Given the description of an element on the screen output the (x, y) to click on. 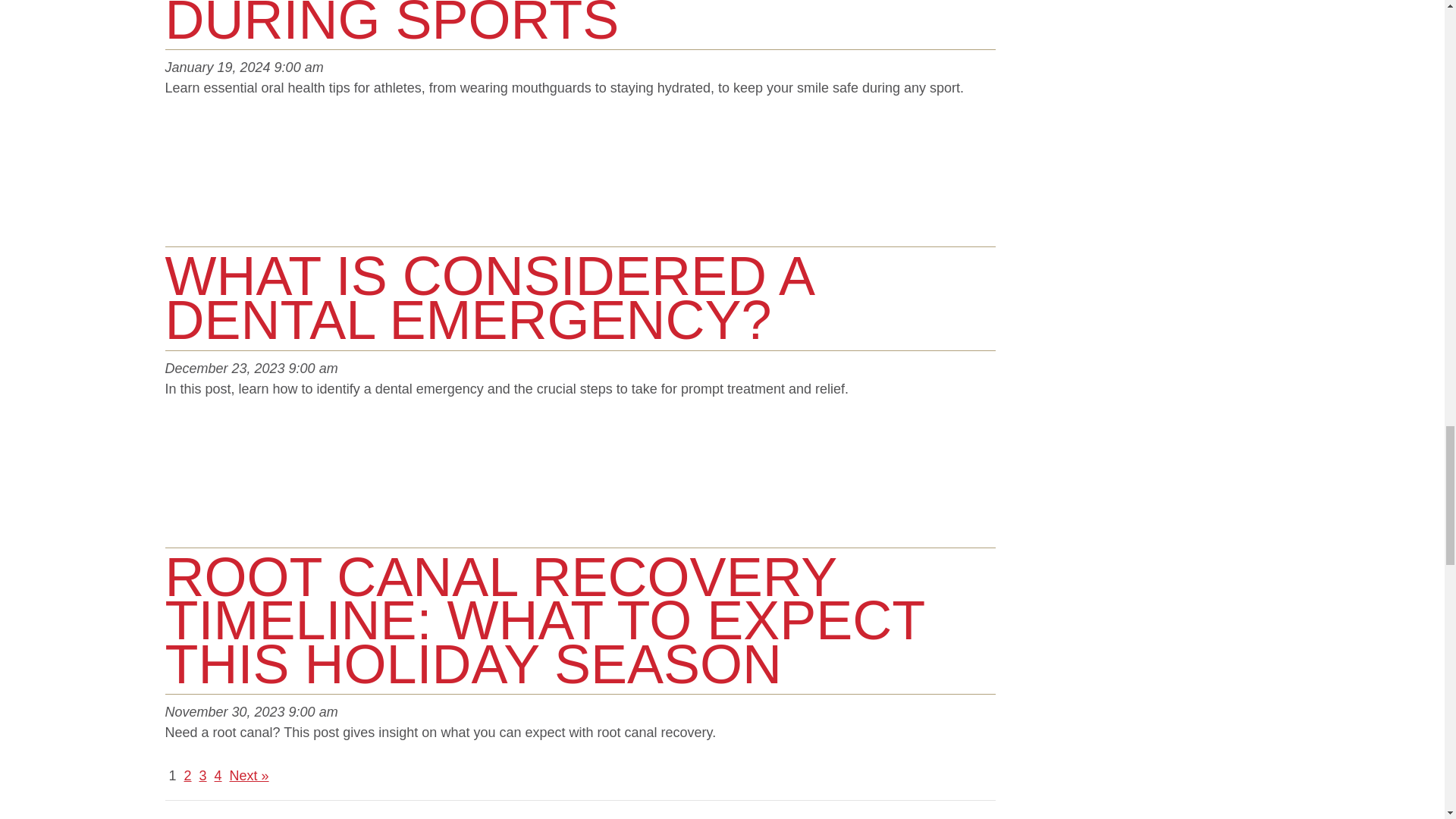
What Is Considered a Dental Emergency? (222, 183)
What Is Considered a Dental Emergency? (488, 297)
